Given the description of an element on the screen output the (x, y) to click on. 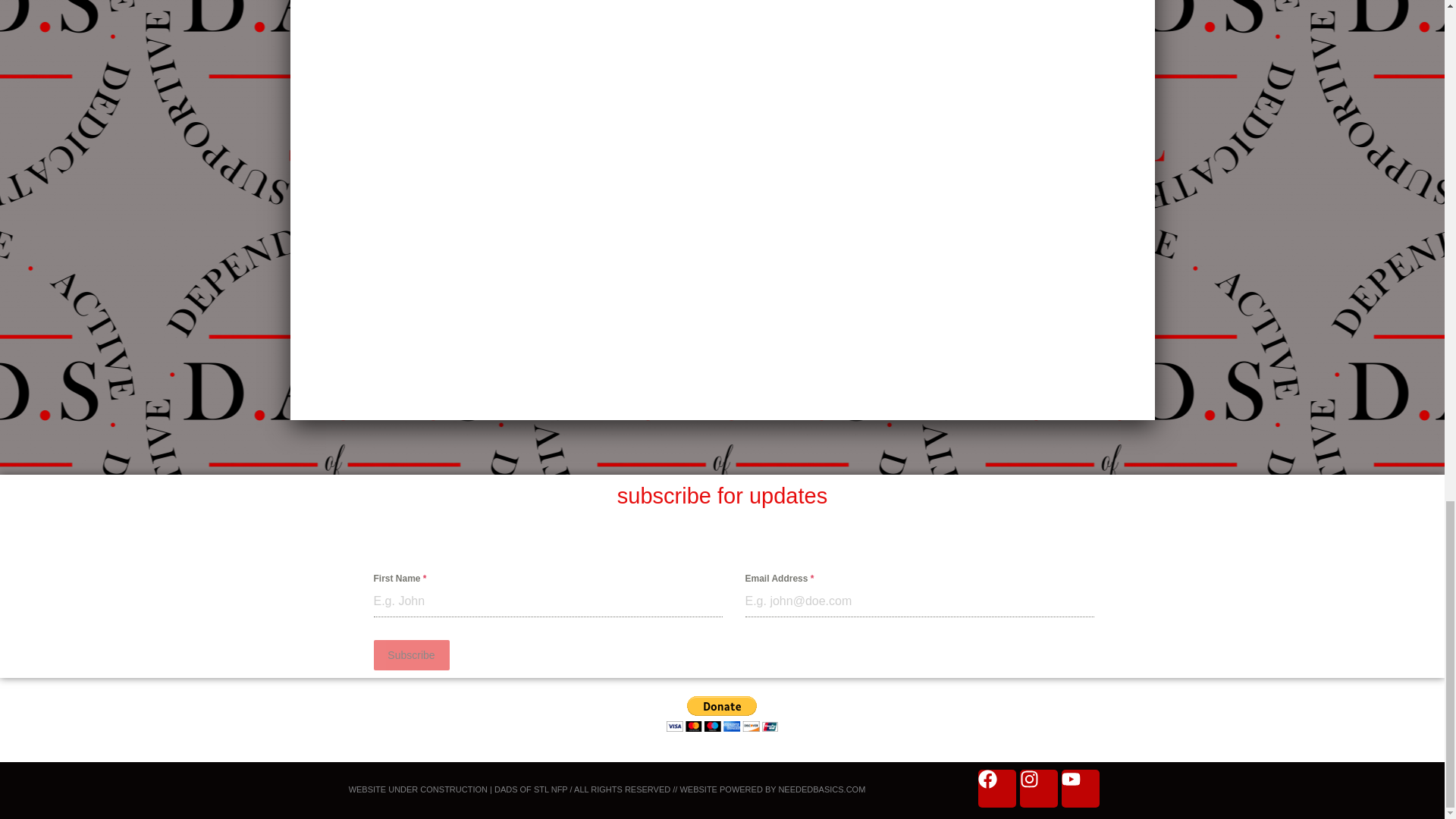
Youtube (1080, 788)
Instagram (1039, 788)
Facebook (997, 788)
Subscribe (410, 654)
PayPal - The safer, easier way to pay online! (721, 714)
